Given the description of an element on the screen output the (x, y) to click on. 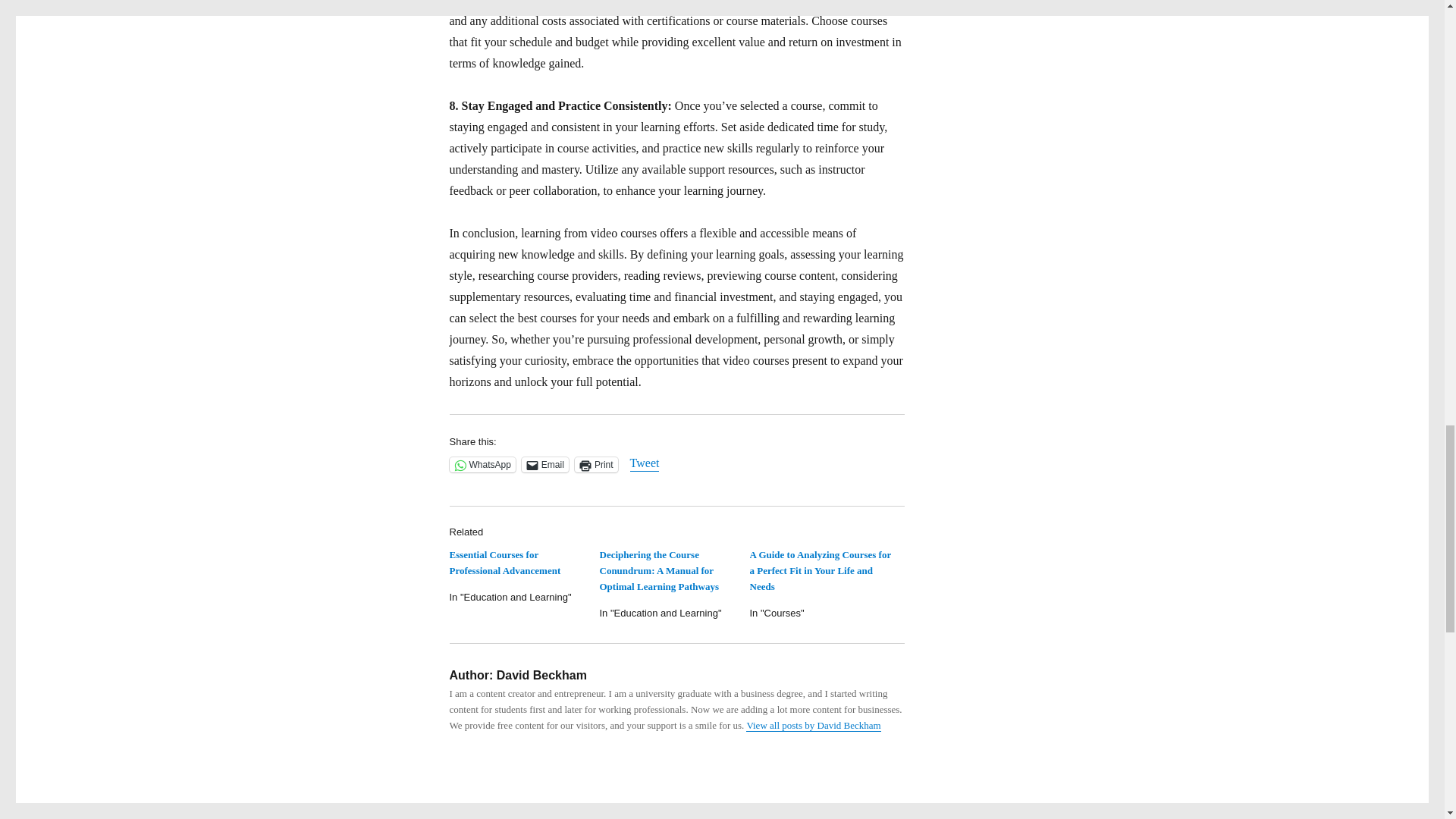
Click to share on WhatsApp (481, 464)
Essential Courses for Professional Advancement (504, 562)
Click to email a link to a friend (545, 464)
View all posts by David Beckham (812, 725)
Email (545, 464)
WhatsApp (481, 464)
Essential Courses for Professional Advancement (504, 562)
Tweet (644, 463)
Print (596, 464)
Click to print (596, 464)
